Given the description of an element on the screen output the (x, y) to click on. 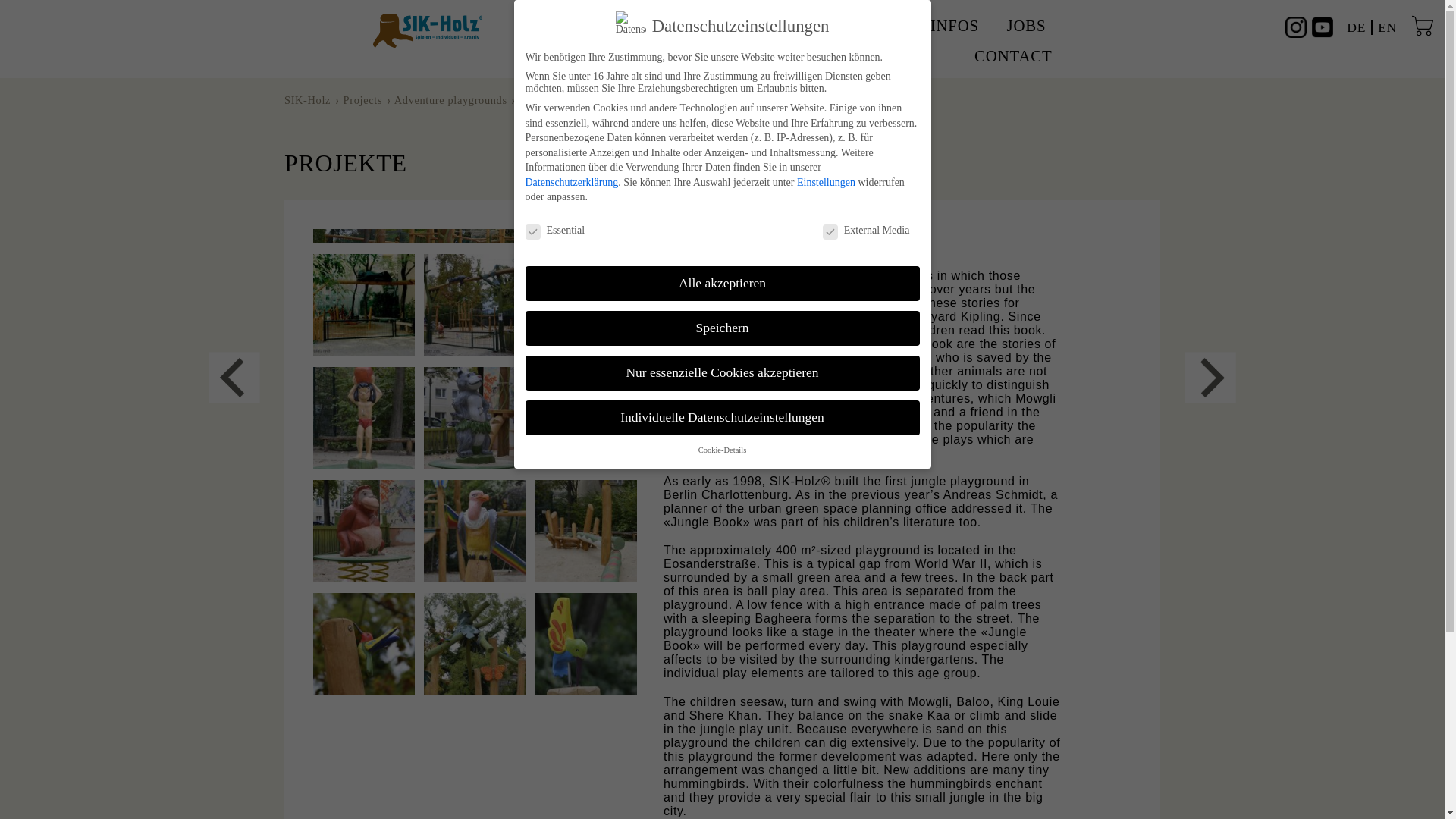
PROJECTS (861, 25)
PRODUCTS (750, 25)
INFOS (955, 25)
Where geese are there is chatter (234, 377)
SIK-Holz (306, 100)
CONTACT (1012, 55)
NEWS (654, 25)
Where geese are there is chatter (1210, 377)
JOBS (1026, 25)
E-Mail (1135, 10)
